Given the description of an element on the screen output the (x, y) to click on. 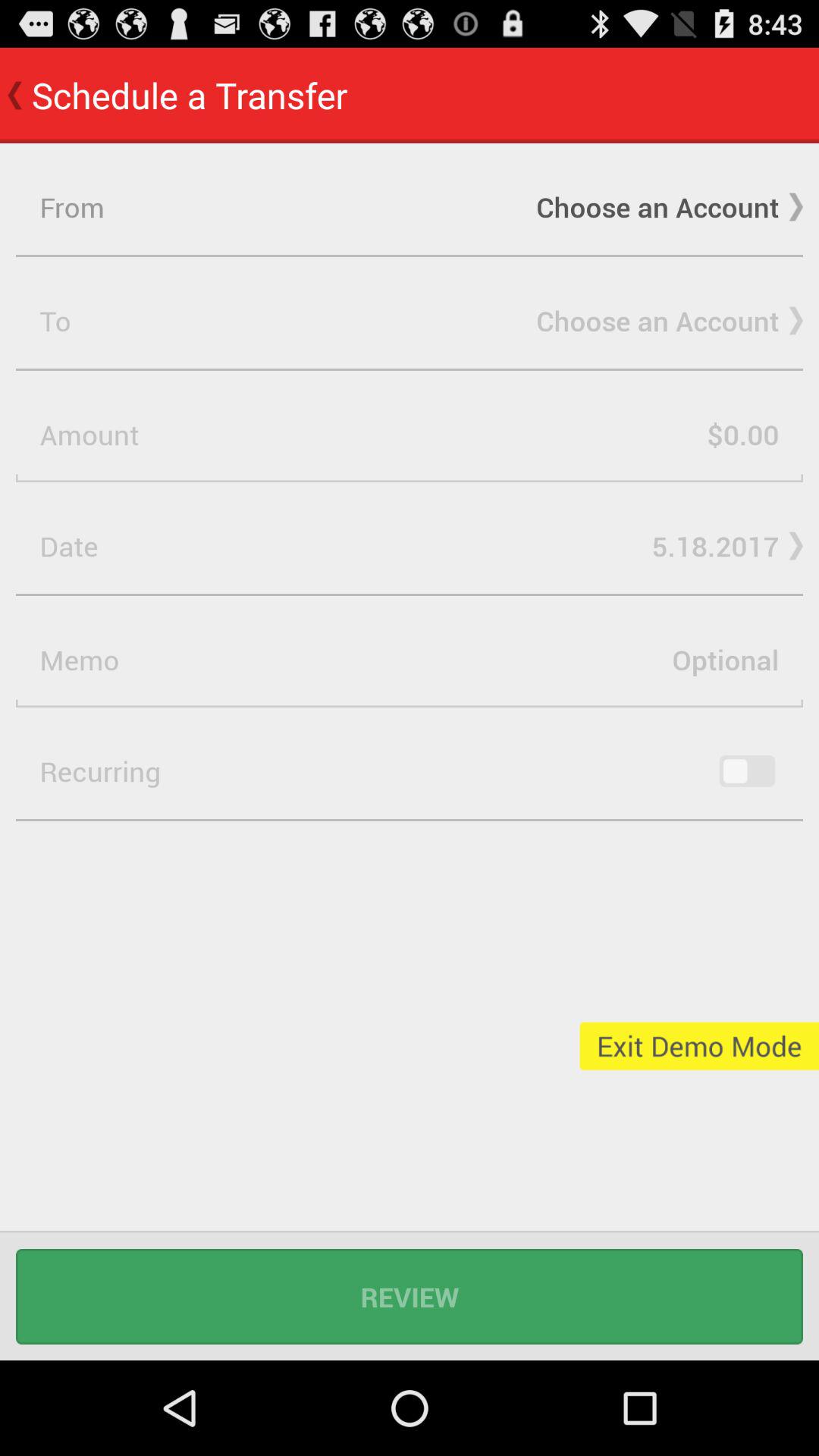
set the recurring option (747, 771)
